Given the description of an element on the screen output the (x, y) to click on. 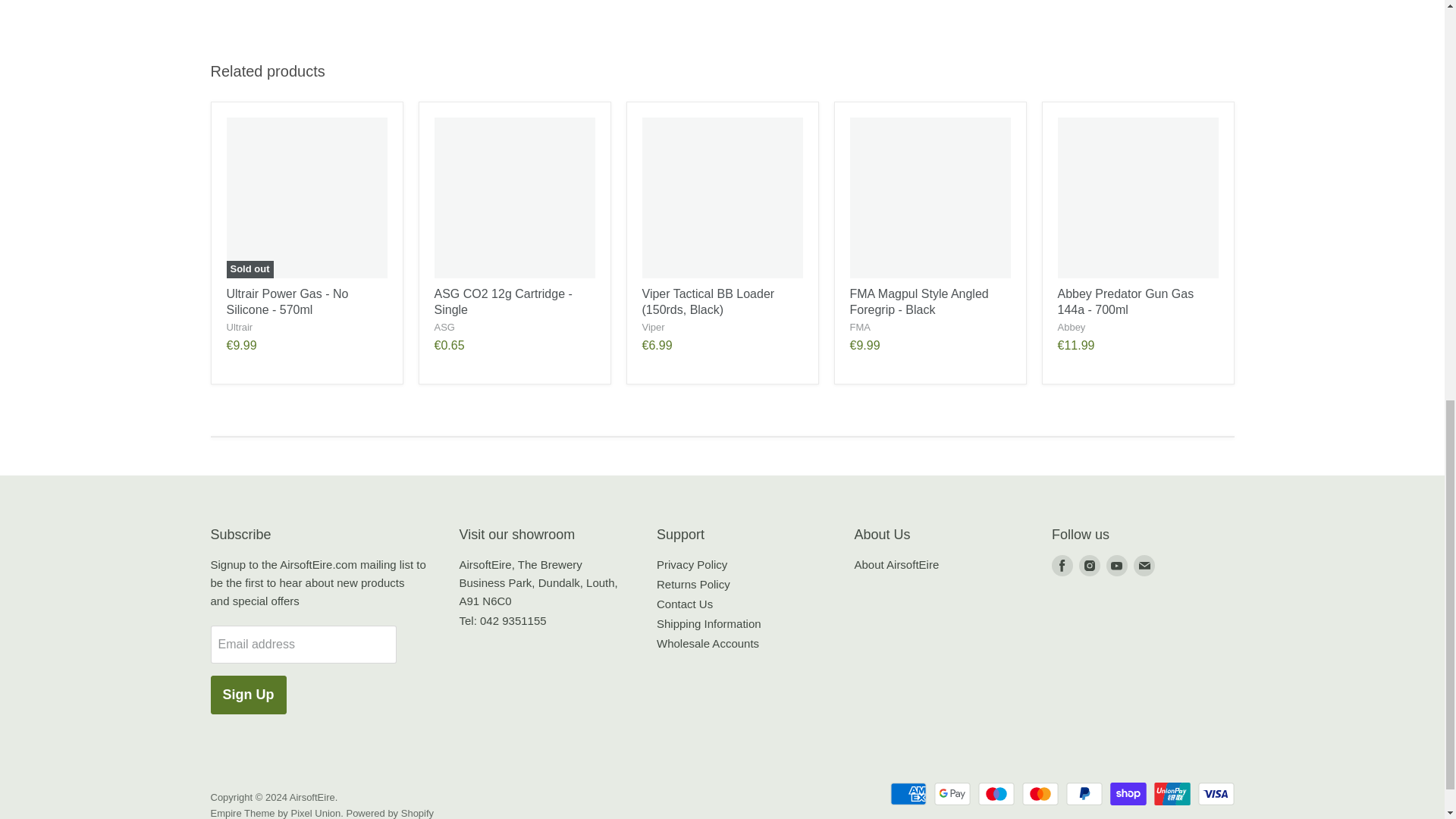
Delivery (708, 623)
Returns Policy (693, 584)
Contact Us (684, 603)
Wholesale Accounts (707, 643)
Facebook (1061, 565)
American Express (907, 793)
E-mail (1144, 565)
Privacy Policy (691, 563)
Youtube (1117, 565)
Instagram (1089, 565)
